Given the description of an element on the screen output the (x, y) to click on. 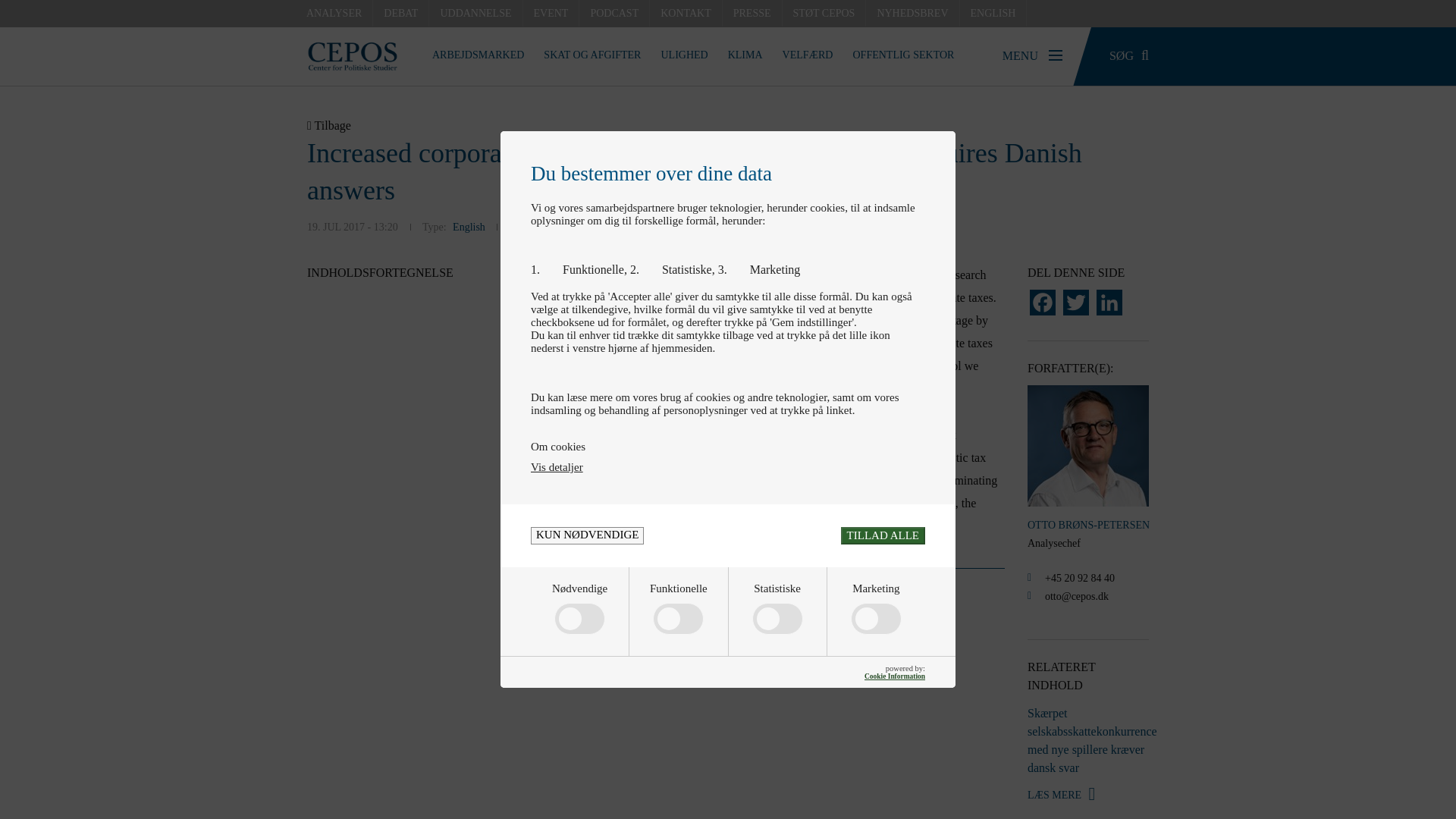
Vis detaljer (557, 467)
Om cookies (727, 446)
Fodnoter (763, 593)
